Given the description of an element on the screen output the (x, y) to click on. 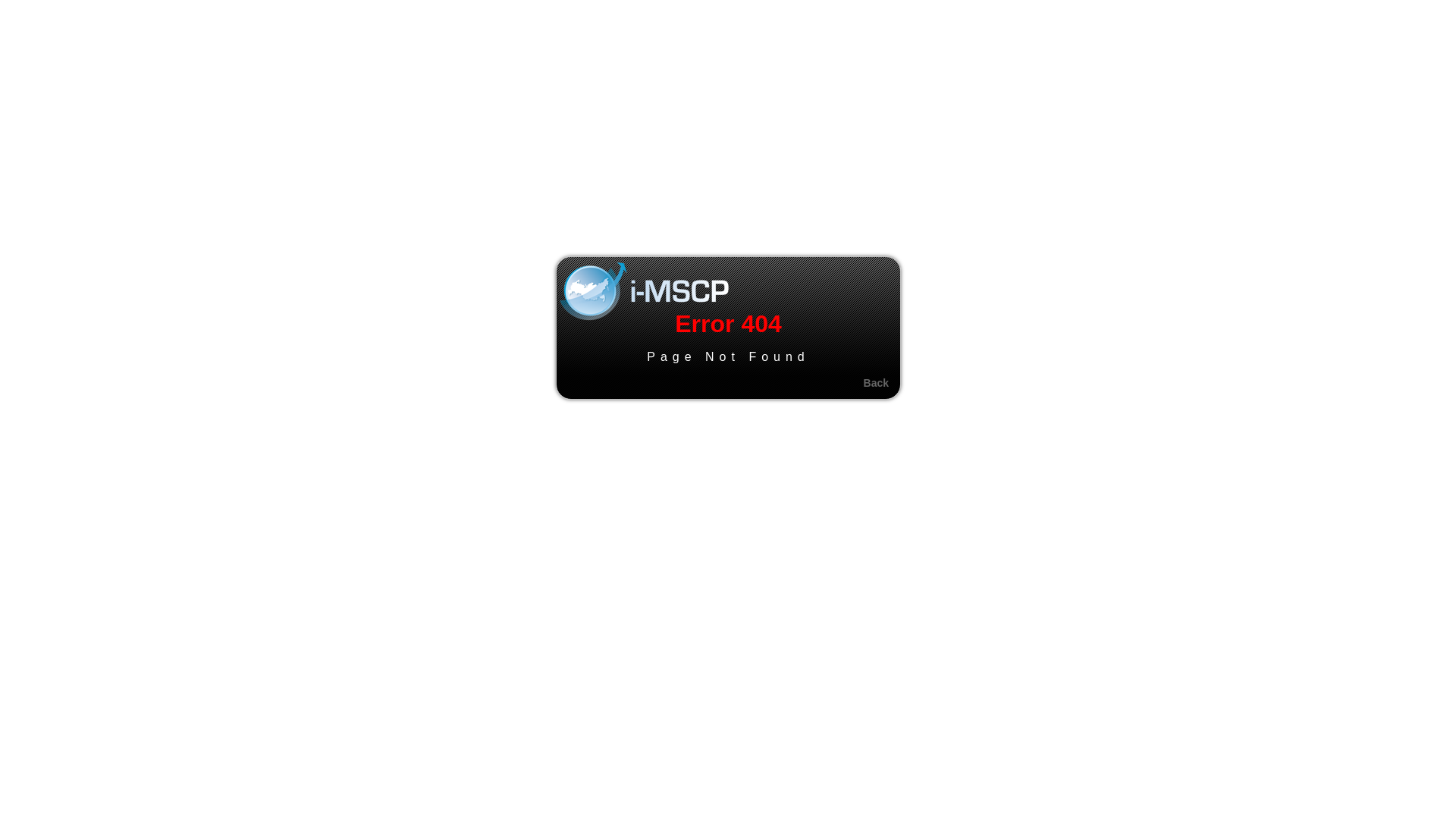
Back Element type: text (875, 382)
